Given the description of an element on the screen output the (x, y) to click on. 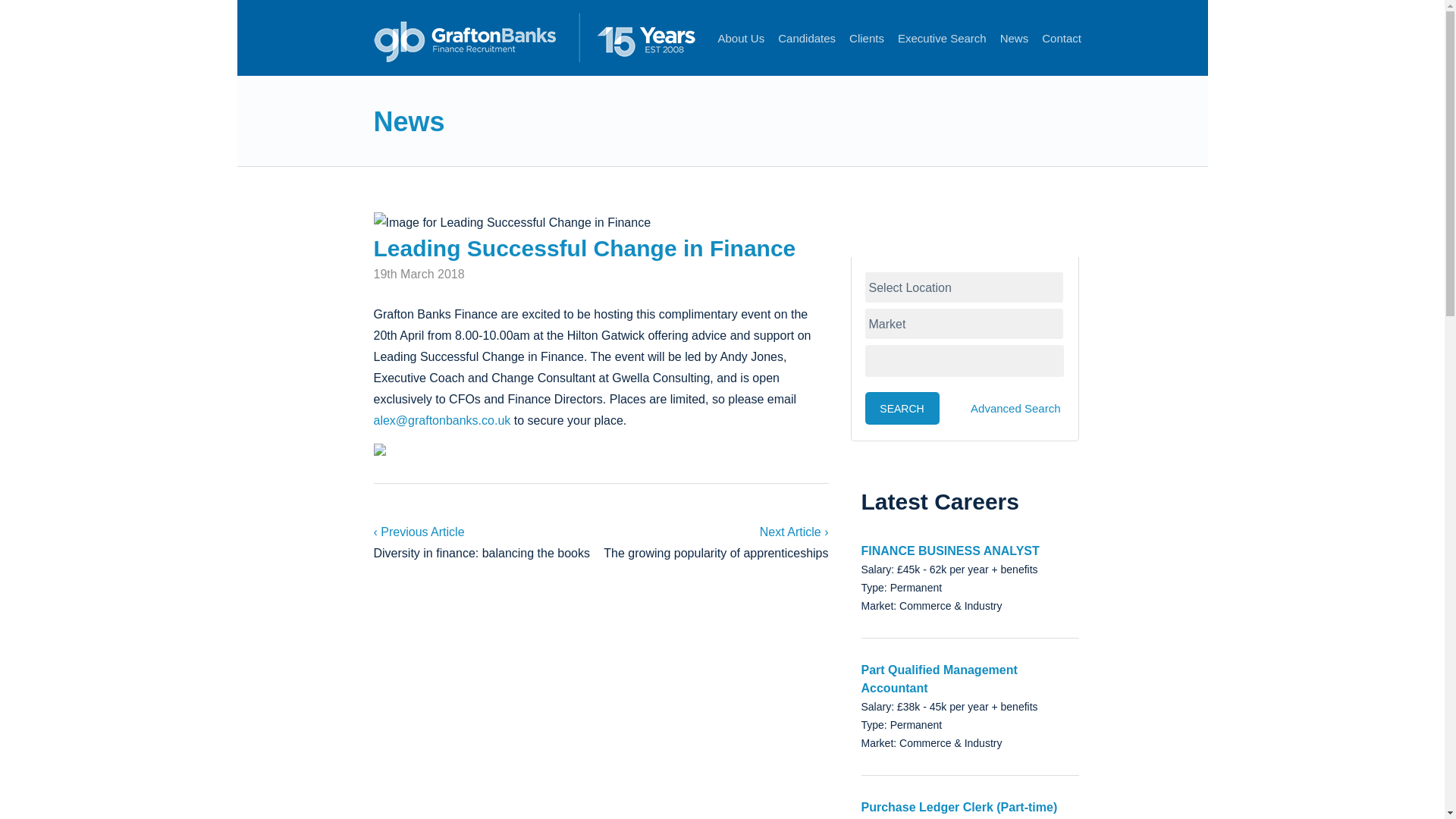
News (408, 121)
Part Qualified Management Accountant (939, 678)
Search (901, 408)
Advanced Search (1015, 408)
FINANCE BUSINESS ANALYST (950, 550)
Candidates (807, 52)
Executive Search (941, 52)
Search (901, 408)
